Given the description of an element on the screen output the (x, y) to click on. 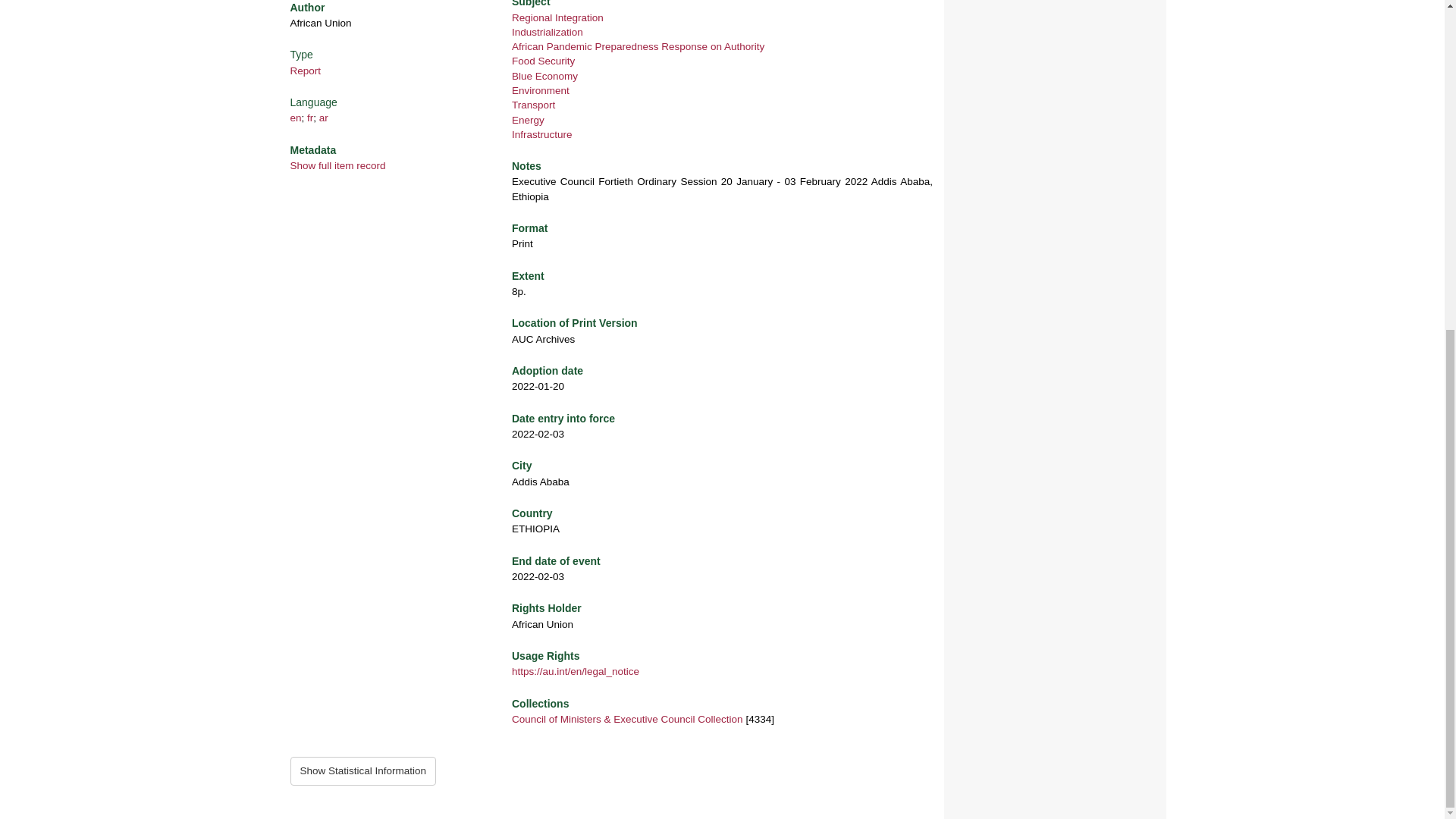
African Pandemic Preparedness Response on Authority (638, 46)
en (295, 117)
Environment (540, 90)
Regional Integration (558, 17)
Report (304, 70)
Blue Economy (545, 75)
Transport (533, 104)
Show full item record (337, 165)
Energy (528, 119)
Food Security (543, 60)
